Given the description of an element on the screen output the (x, y) to click on. 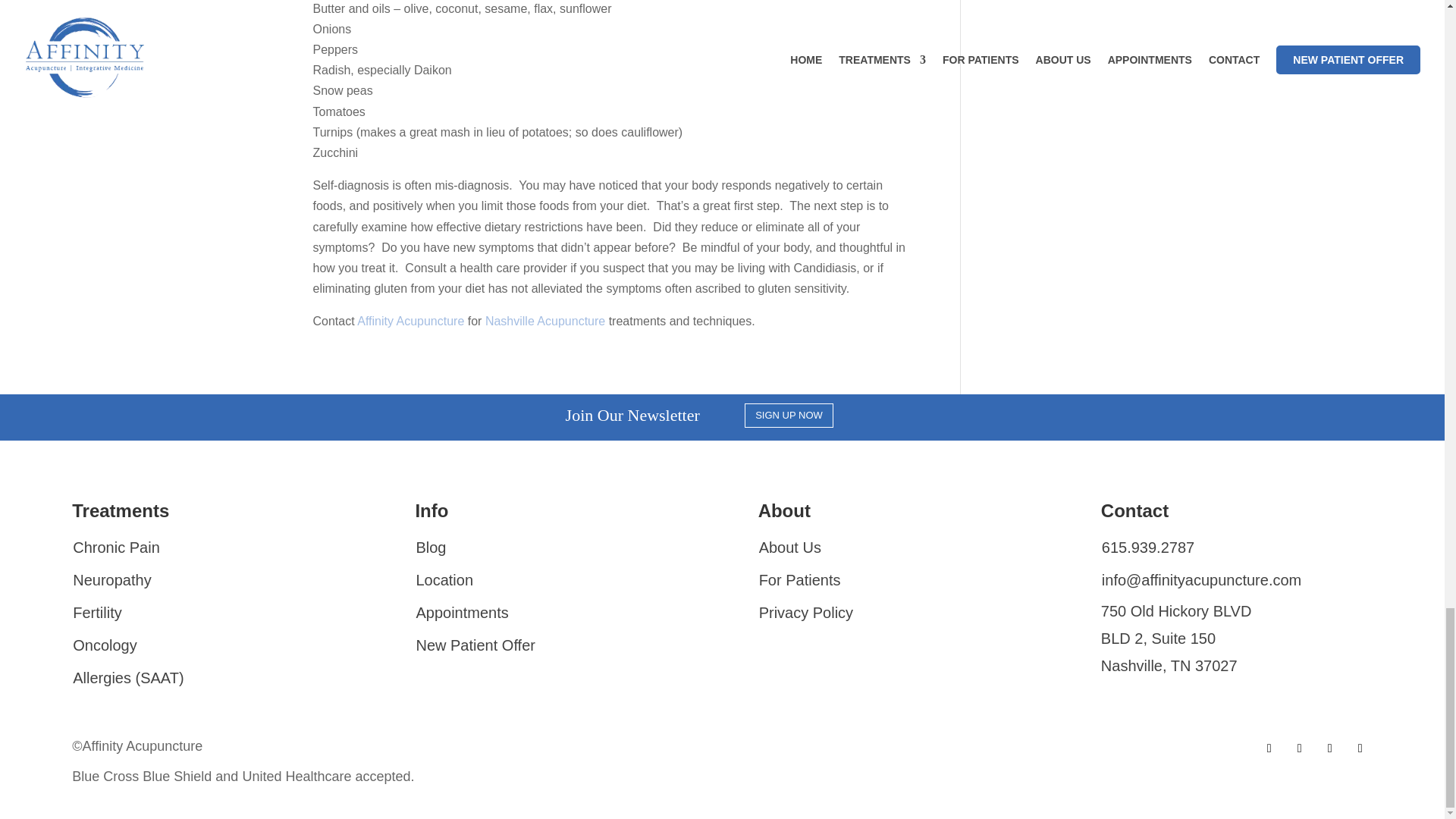
Affinity Acupuncture (410, 320)
Nashville Acupuncture (544, 320)
Follow on X (1299, 748)
Follow on Facebook (1269, 748)
Follow on Instagram (1329, 748)
Follow on Youtube (1360, 748)
